Given the description of an element on the screen output the (x, y) to click on. 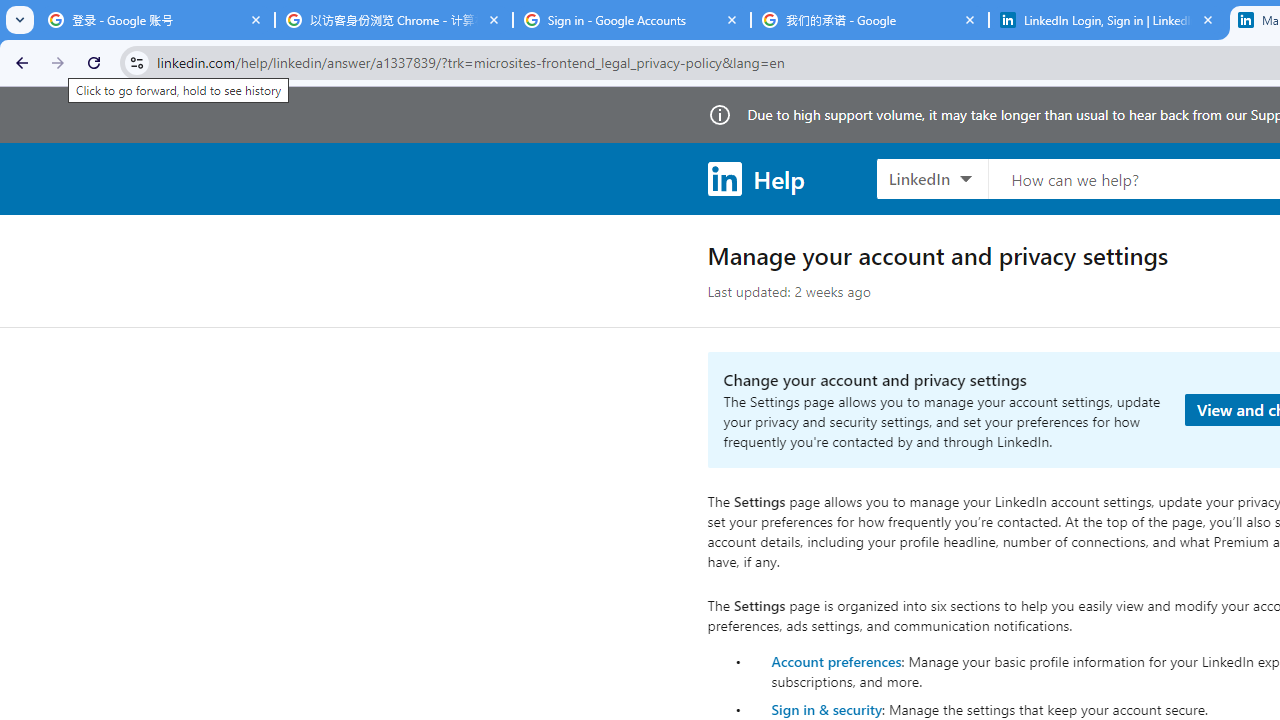
LinkedIn products to search, LinkedIn selected (932, 178)
Account preferences (836, 660)
LinkedIn Login, Sign in | LinkedIn (1108, 20)
Sign in - Google Accounts (632, 20)
Sign in & security (826, 709)
Help (755, 178)
